Given the description of an element on the screen output the (x, y) to click on. 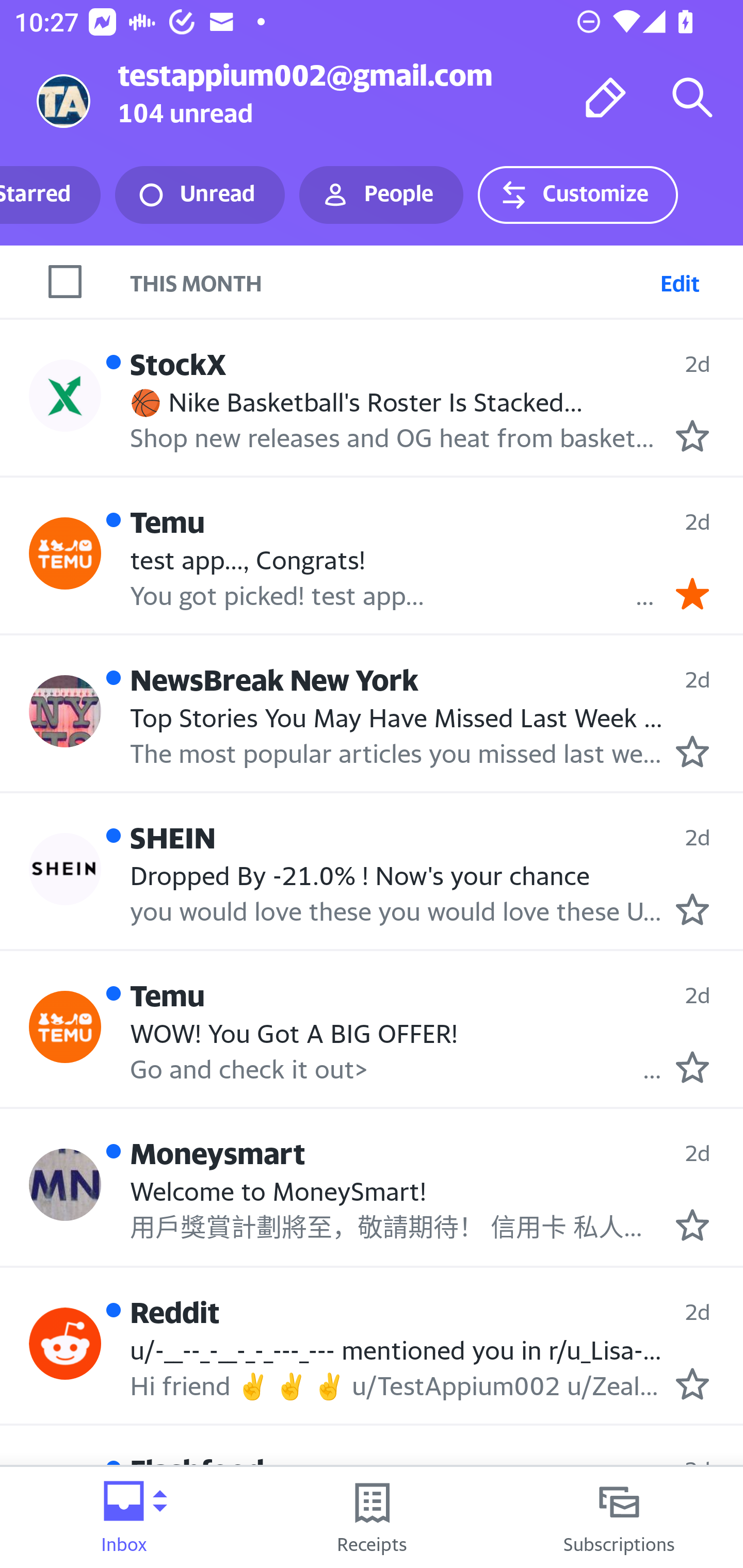
Compose (605, 97)
Search mail (692, 97)
Unread (199, 195)
People (381, 195)
Customize (577, 195)
THIS MONTH (436, 281)
Profile
StockX (64, 395)
Mark as starred. (692, 435)
Profile
Temu (64, 553)
Remove star. (692, 593)
Profile
NewsBreak New York (64, 711)
Mark as starred. (692, 751)
Profile
SHEIN (64, 868)
Mark as starred. (692, 908)
Profile
Temu (64, 1026)
Mark as starred. (692, 1066)
Profile
Moneysmart (64, 1185)
Mark as starred. (692, 1225)
Profile
Reddit (64, 1343)
Mark as starred. (692, 1383)
Inbox Folder picker (123, 1517)
Receipts (371, 1517)
Subscriptions (619, 1517)
